Given the description of an element on the screen output the (x, y) to click on. 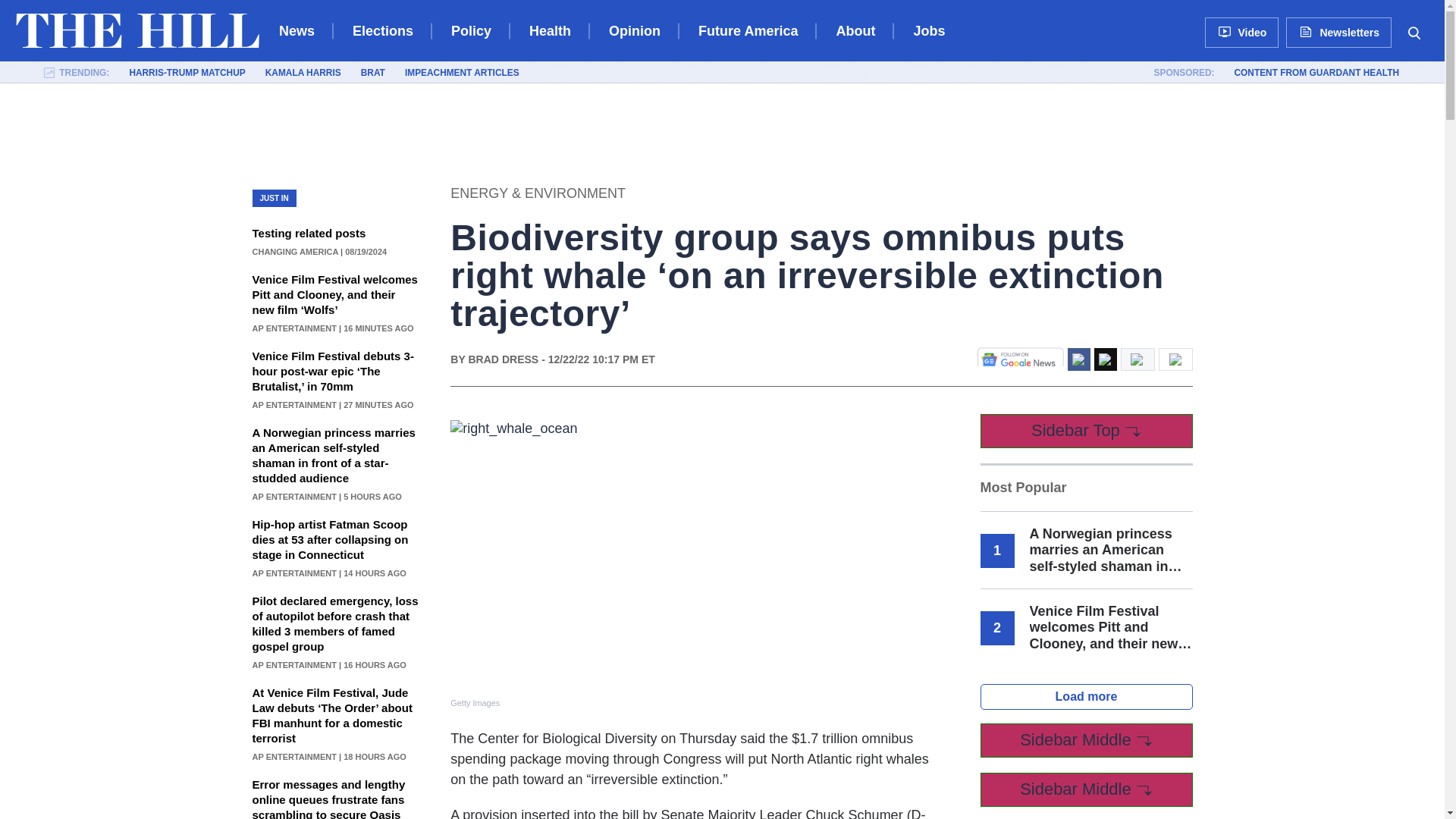
Health (549, 30)
News (296, 30)
Opinion (634, 30)
Search (1414, 31)
Elections (382, 30)
Policy (471, 30)
